Given the description of an element on the screen output the (x, y) to click on. 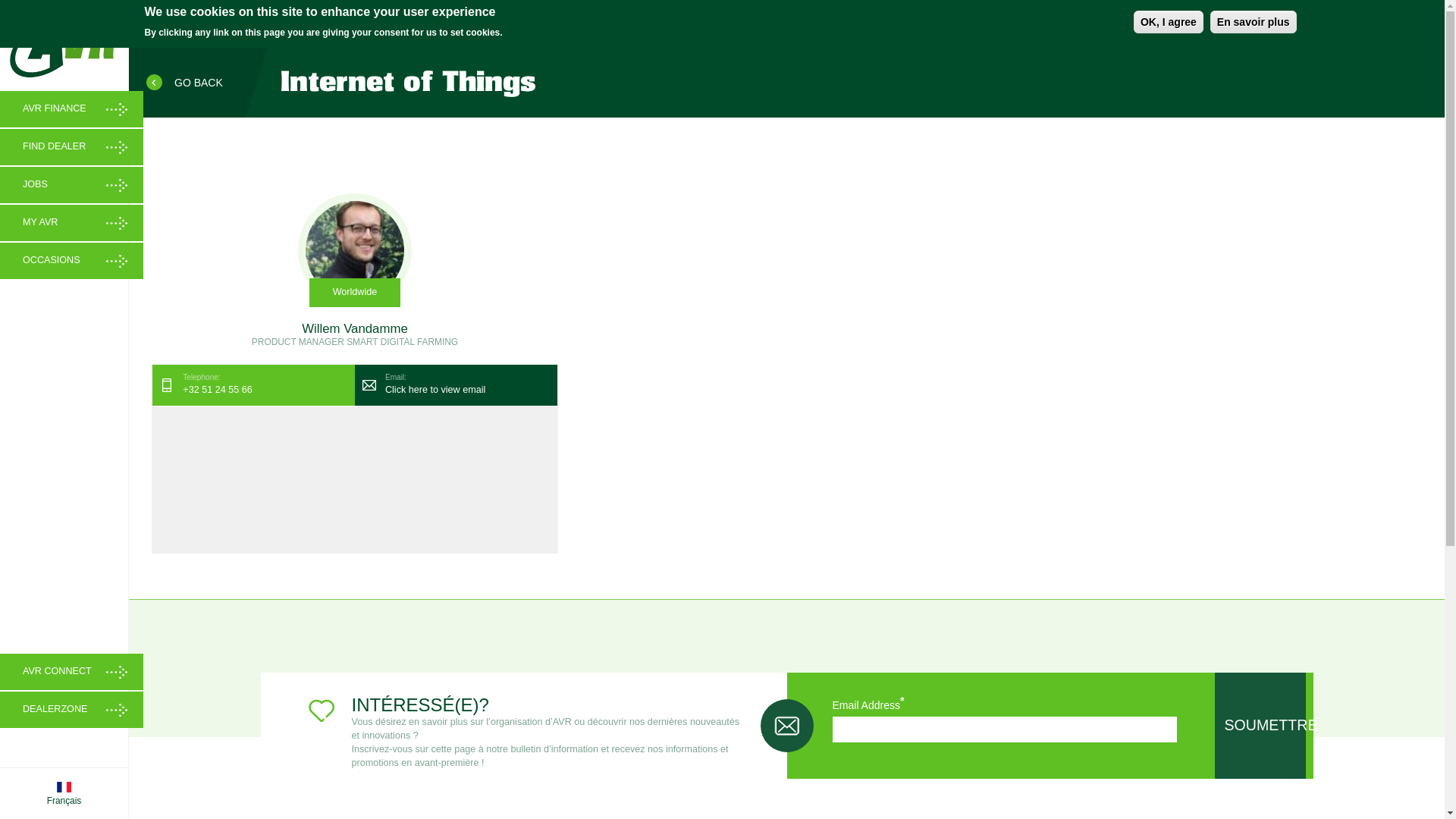
AVR FINANCE Element type: text (71, 109)
DEALERZONE Element type: text (71, 709)
AVR CONNECT Element type: text (71, 671)
FIND DEALER Element type: text (71, 146)
OCCASIONS Element type: text (71, 260)
GO BACK Element type: text (186, 82)
JOBS Element type: text (71, 184)
MY AVR Element type: text (71, 222)
Aller au contenu principal Element type: text (0, 47)
En savoir plus Element type: text (1253, 21)
OK, I agree Element type: text (1168, 21)
SOUMETTRE Element type: text (1259, 725)
